Given the description of an element on the screen output the (x, y) to click on. 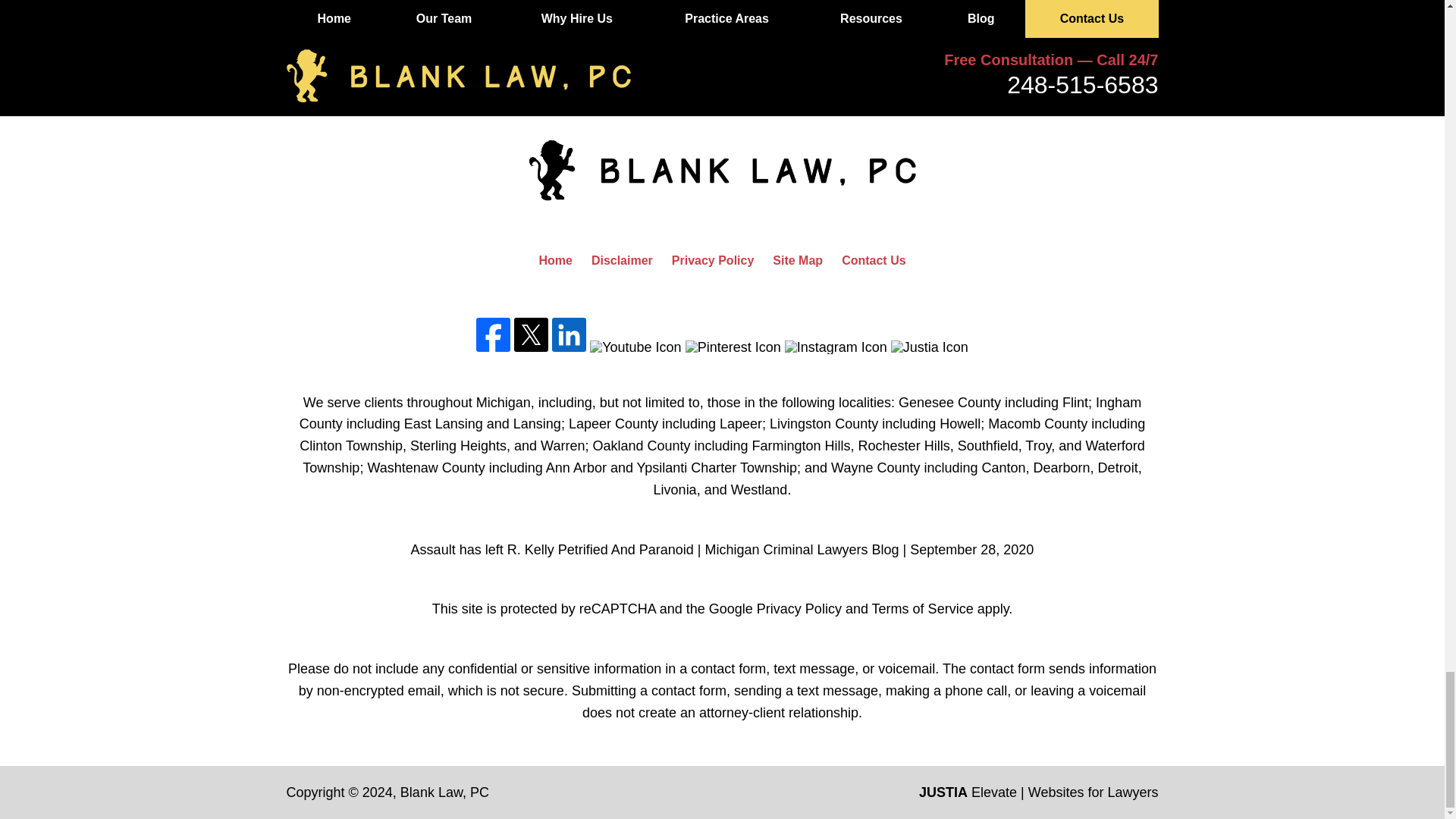
Linkedin (568, 335)
Justia (929, 346)
Instagram (835, 346)
Youtube (635, 346)
Facebook (493, 335)
Pinterest (732, 346)
Twitter (530, 335)
